Given the description of an element on the screen output the (x, y) to click on. 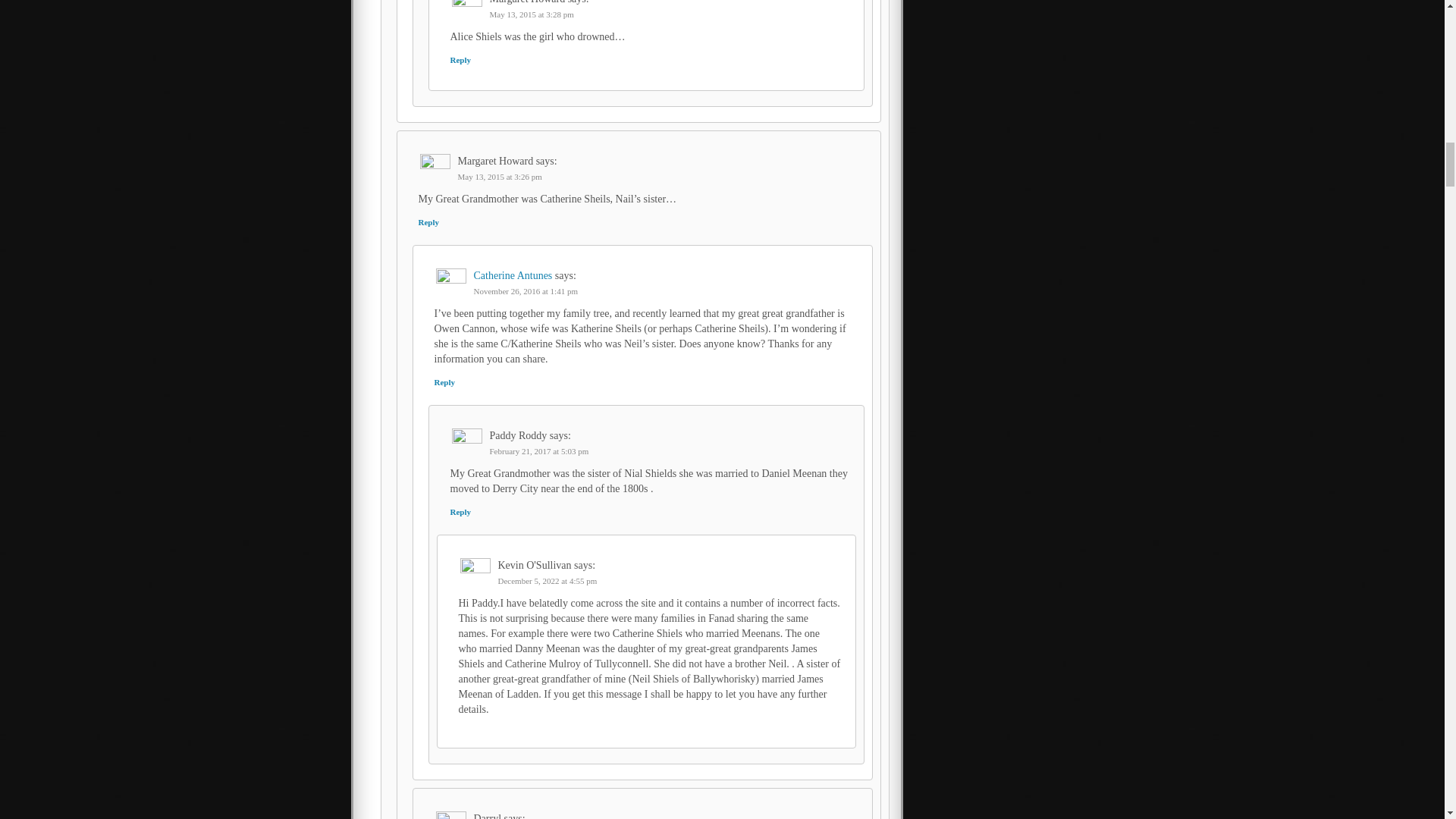
May 13, 2015 at 3:28 pm (531, 13)
February 21, 2017 at 5:03 pm (539, 450)
Catherine Antunes (512, 275)
Reply (443, 381)
December 5, 2022 at 4:55 pm (546, 580)
May 13, 2015 at 3:26 pm (499, 175)
Reply (429, 221)
Reply (460, 511)
Reply (460, 59)
November 26, 2016 at 1:41 pm (524, 290)
